Given the description of an element on the screen output the (x, y) to click on. 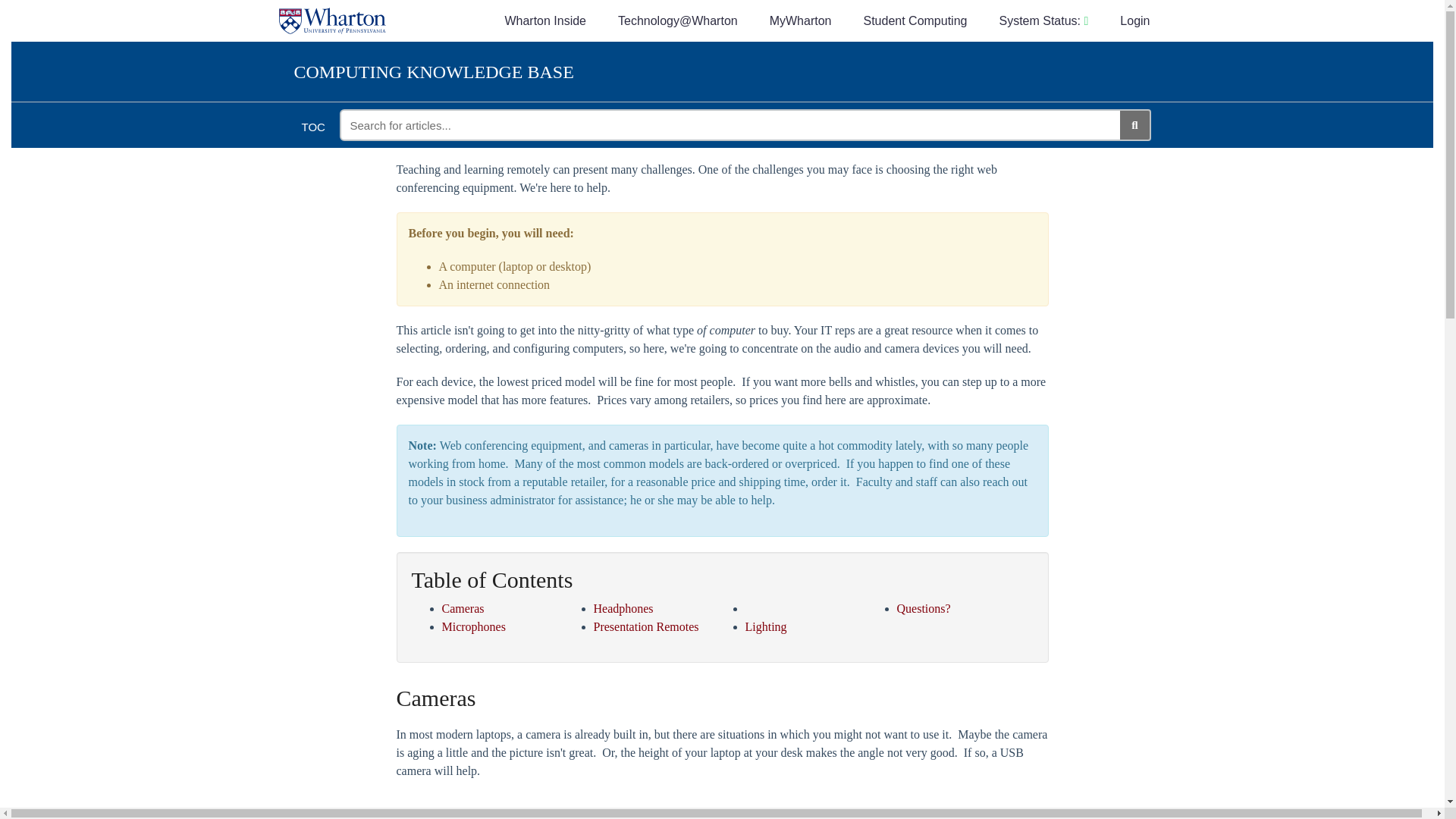
MyWharton (800, 20)
Download PDF (917, 102)
Print (934, 102)
Search (1134, 124)
Teaching (569, 62)
Wharton (338, 13)
Email (950, 102)
Login (1134, 20)
Wharton Inside (544, 20)
System Status: (1042, 20)
